Given the description of an element on the screen output the (x, y) to click on. 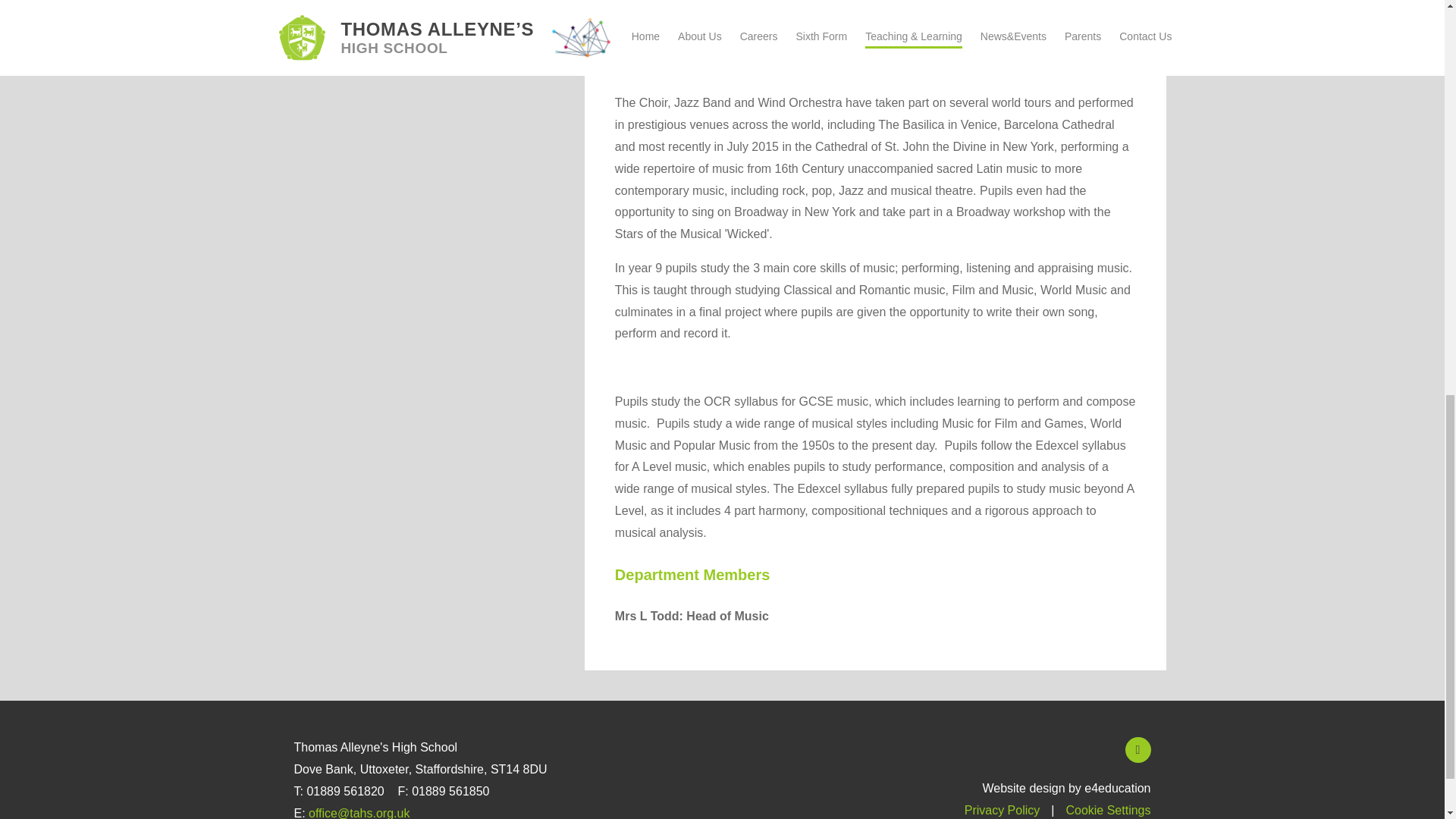
Cookie Settings (1107, 809)
Cookie Settings (1107, 809)
Website design by e4education (1065, 788)
01889 561820 (344, 790)
Privacy Policy (1002, 809)
